Given the description of an element on the screen output the (x, y) to click on. 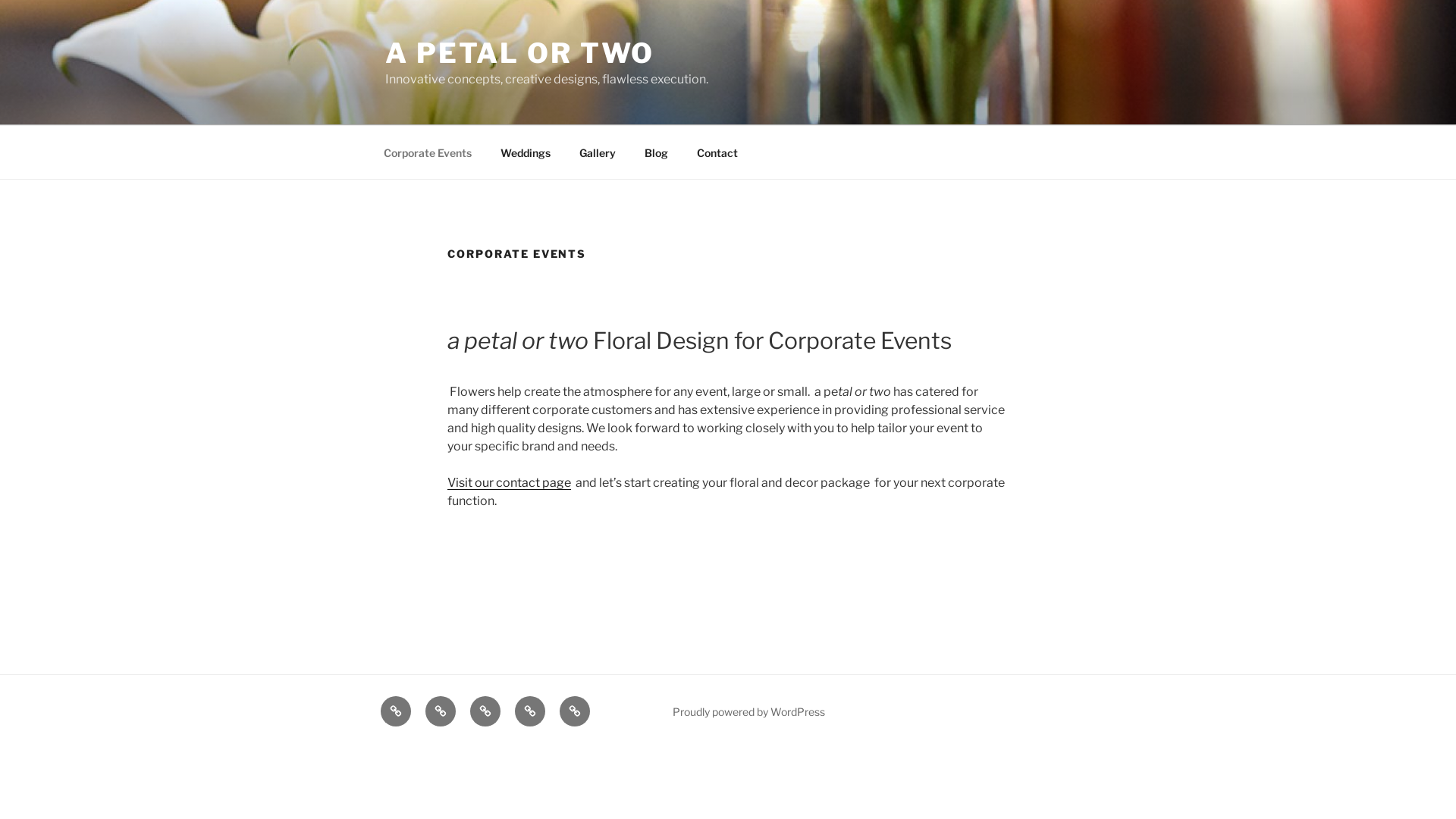
Blog Element type: text (529, 711)
Visit our contact page Element type: text (509, 482)
Gallery Element type: text (485, 711)
Weddings Element type: text (524, 151)
Gallery Element type: text (596, 151)
Corporate Events Element type: text (395, 711)
Contact Element type: text (574, 711)
Weddings Element type: text (440, 711)
Proudly powered by WordPress Element type: text (748, 711)
Blog Element type: text (655, 151)
A PETAL OR TWO Element type: text (519, 52)
Corporate Events Element type: text (427, 151)
Contact Element type: text (716, 151)
